Given the description of an element on the screen output the (x, y) to click on. 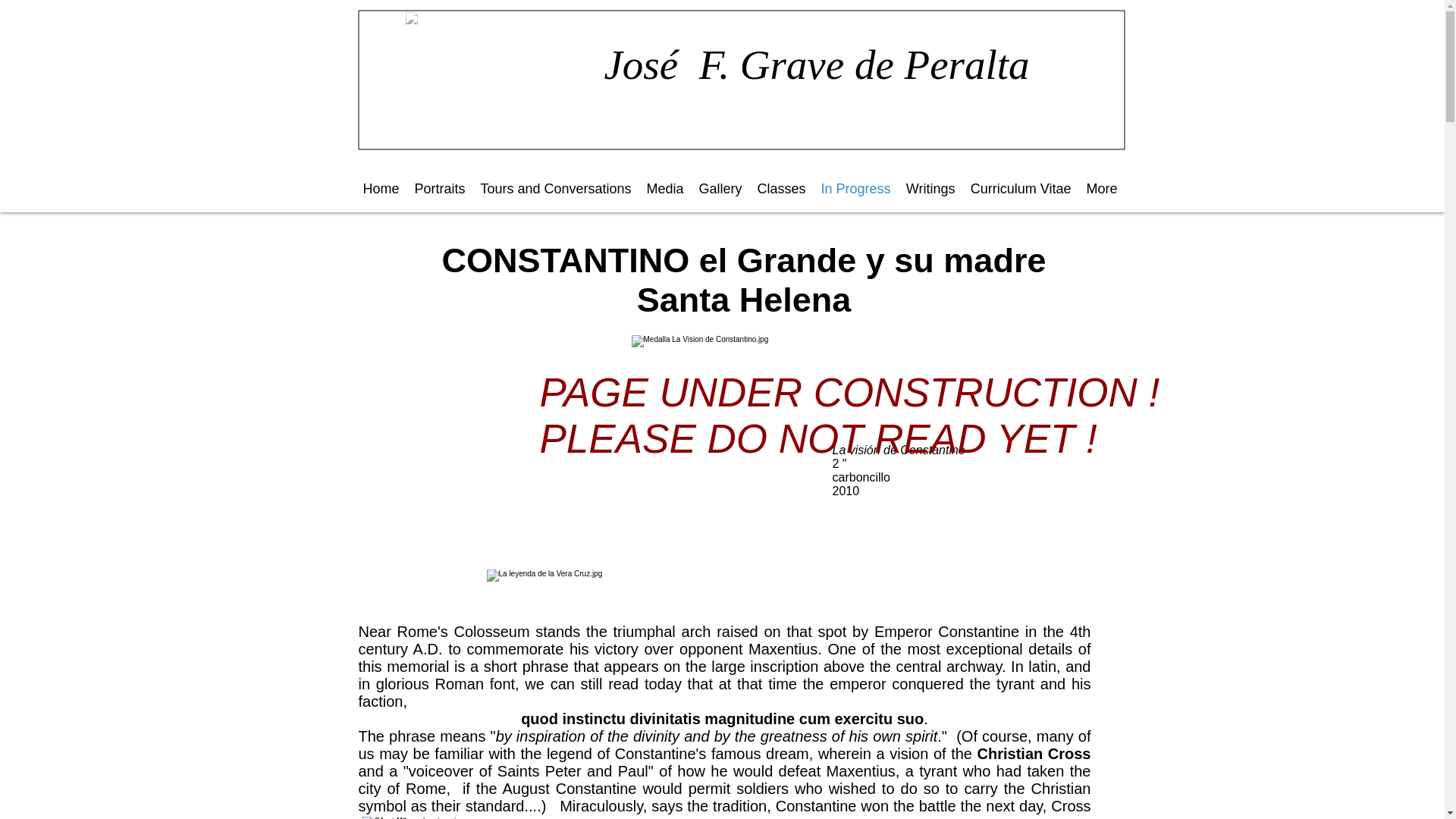
Gallery (720, 188)
Media (664, 188)
Home (380, 188)
Tours and Conversations (556, 188)
Portraits (438, 188)
